Given the description of an element on the screen output the (x, y) to click on. 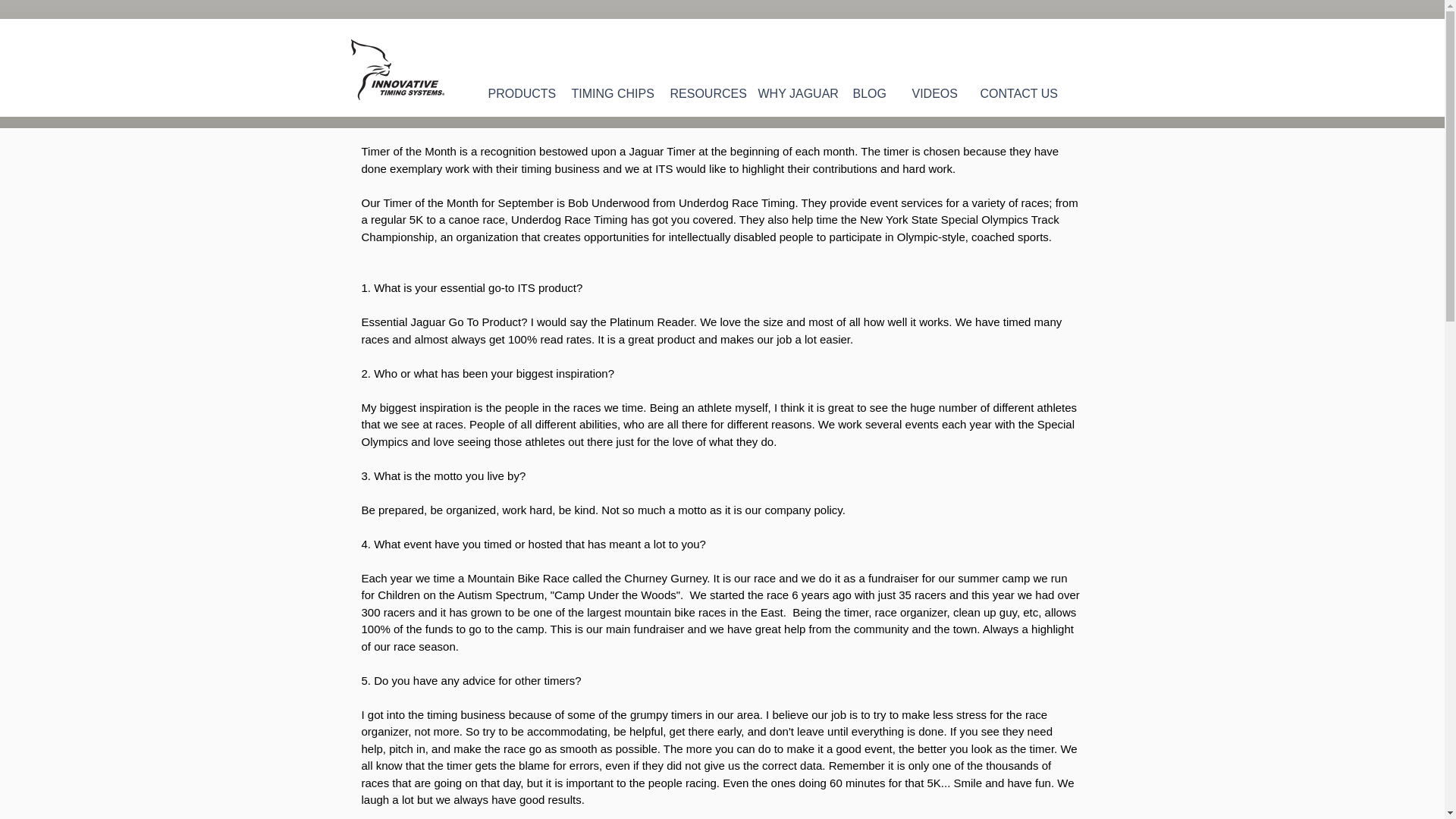
Site Search (997, 56)
TIMING CHIPS (608, 93)
RESOURCES (701, 93)
WHY JAGUAR (793, 93)
BLOG (871, 93)
VIDEOS (935, 93)
PRODUCTS (517, 93)
CONTACT US (1014, 93)
